Given the description of an element on the screen output the (x, y) to click on. 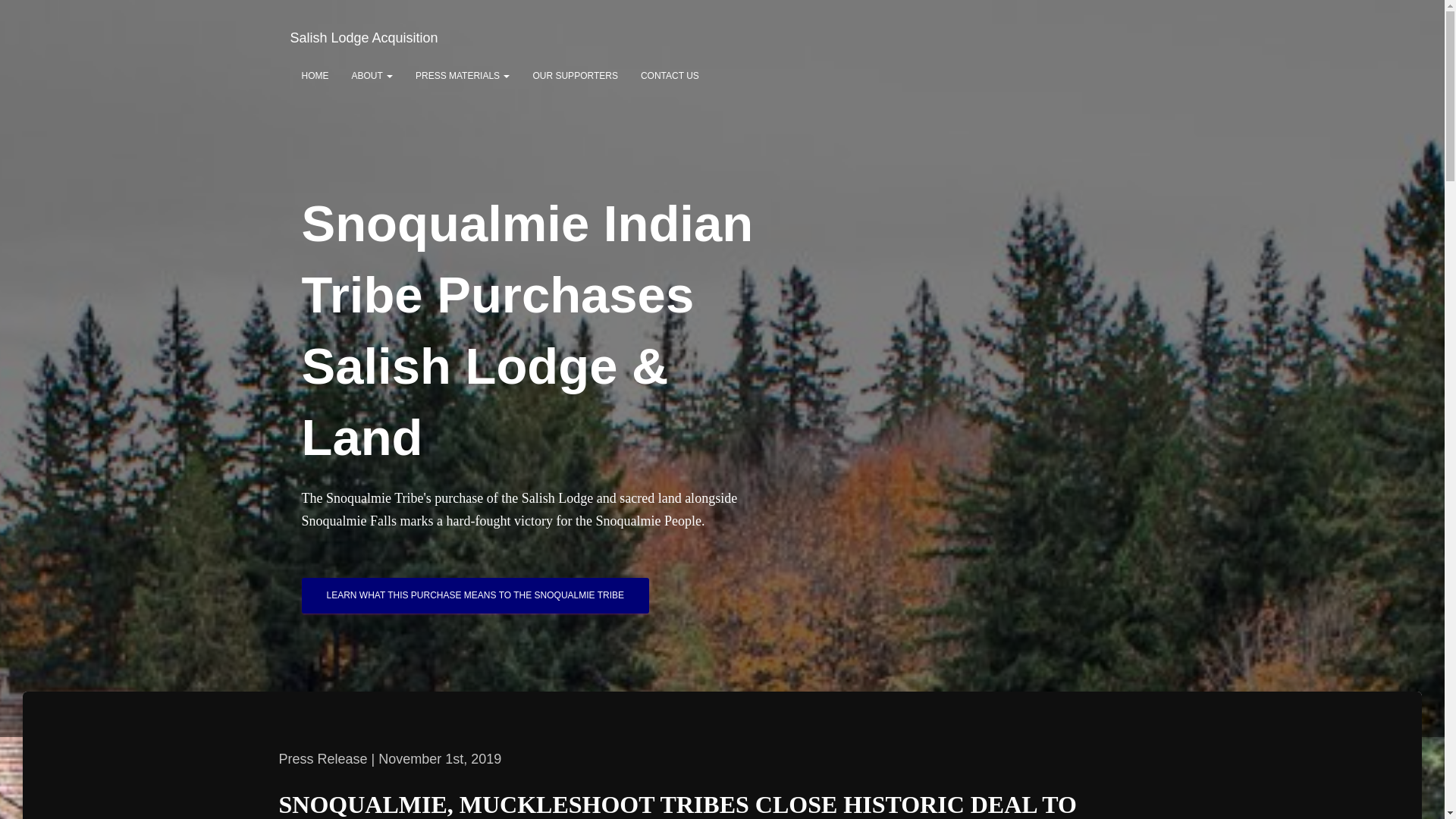
Contact Us (669, 75)
CONTACT US (669, 75)
ABOUT (371, 75)
About (371, 75)
HOME (314, 75)
Press Materials (462, 75)
Home (314, 75)
Our Supporters (574, 75)
LEARN WHAT THIS PURCHASE MEANS TO THE SNOQUALMIE TRIBE (475, 595)
Salish Lodge Acquisition (364, 37)
Learn What this Purchase Means to the Snoqualmie Tribe (475, 595)
Salish Lodge Acquisition (364, 37)
OUR SUPPORTERS (574, 75)
PRESS MATERIALS (462, 75)
